Given the description of an element on the screen output the (x, y) to click on. 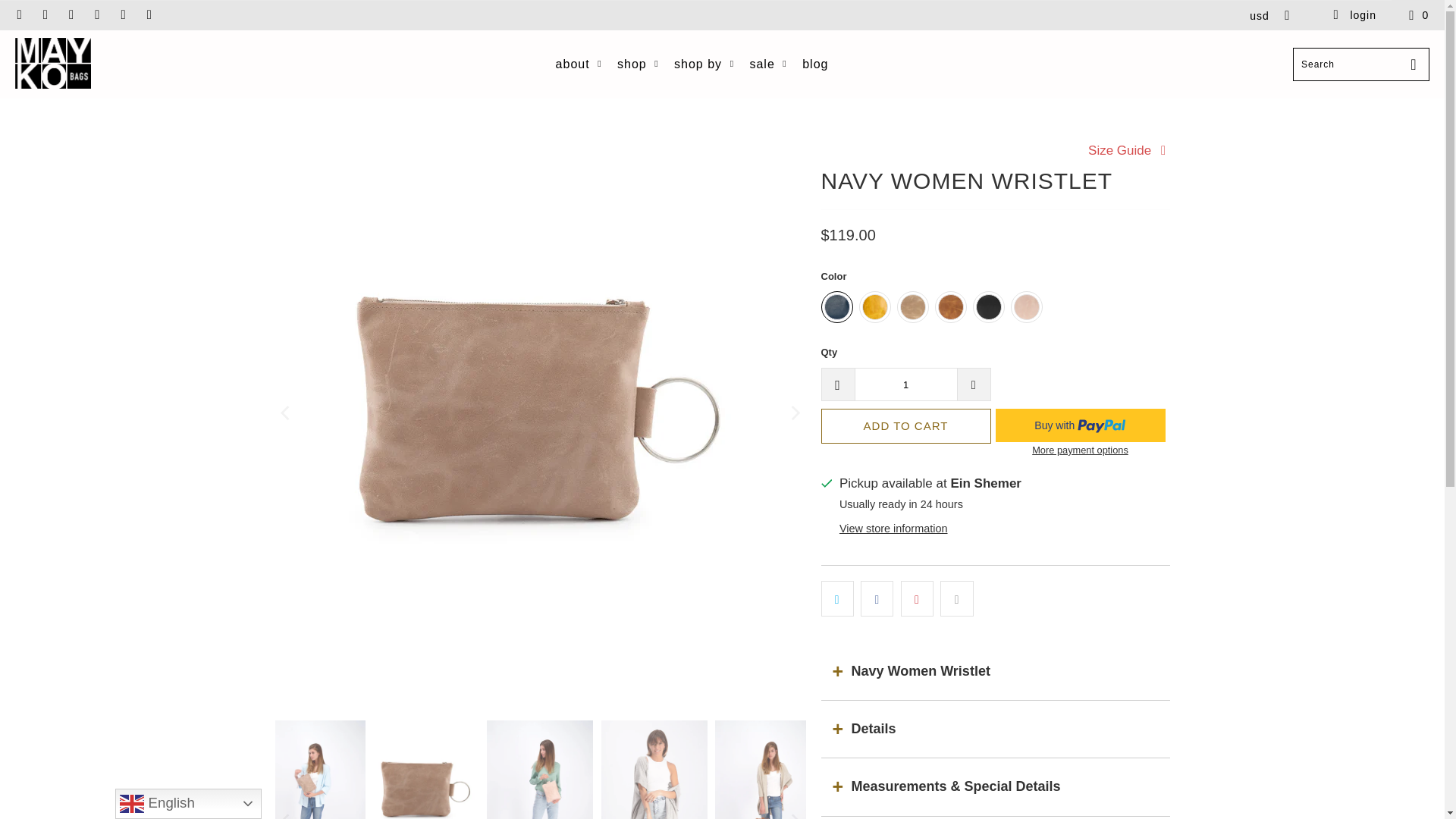
Mayko Bags on Facebook (44, 15)
Mayko Bags on YouTube (71, 15)
1 (904, 384)
Mayko Bags (52, 63)
Mayko Bags on Instagram (123, 15)
Email Mayko Bags (148, 15)
Mayko Bags on Twitter (18, 15)
My Account  (1353, 15)
Mayko Bags on Pinterest (96, 15)
Share this on Facebook (876, 598)
Share this on Twitter (837, 598)
